Given the description of an element on the screen output the (x, y) to click on. 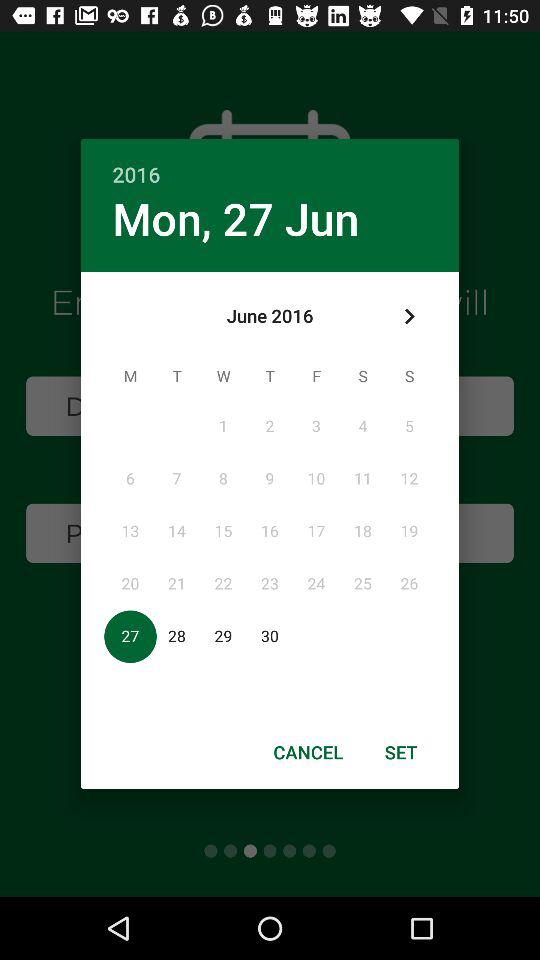
jump to mon, 27 jun item (235, 218)
